Given the description of an element on the screen output the (x, y) to click on. 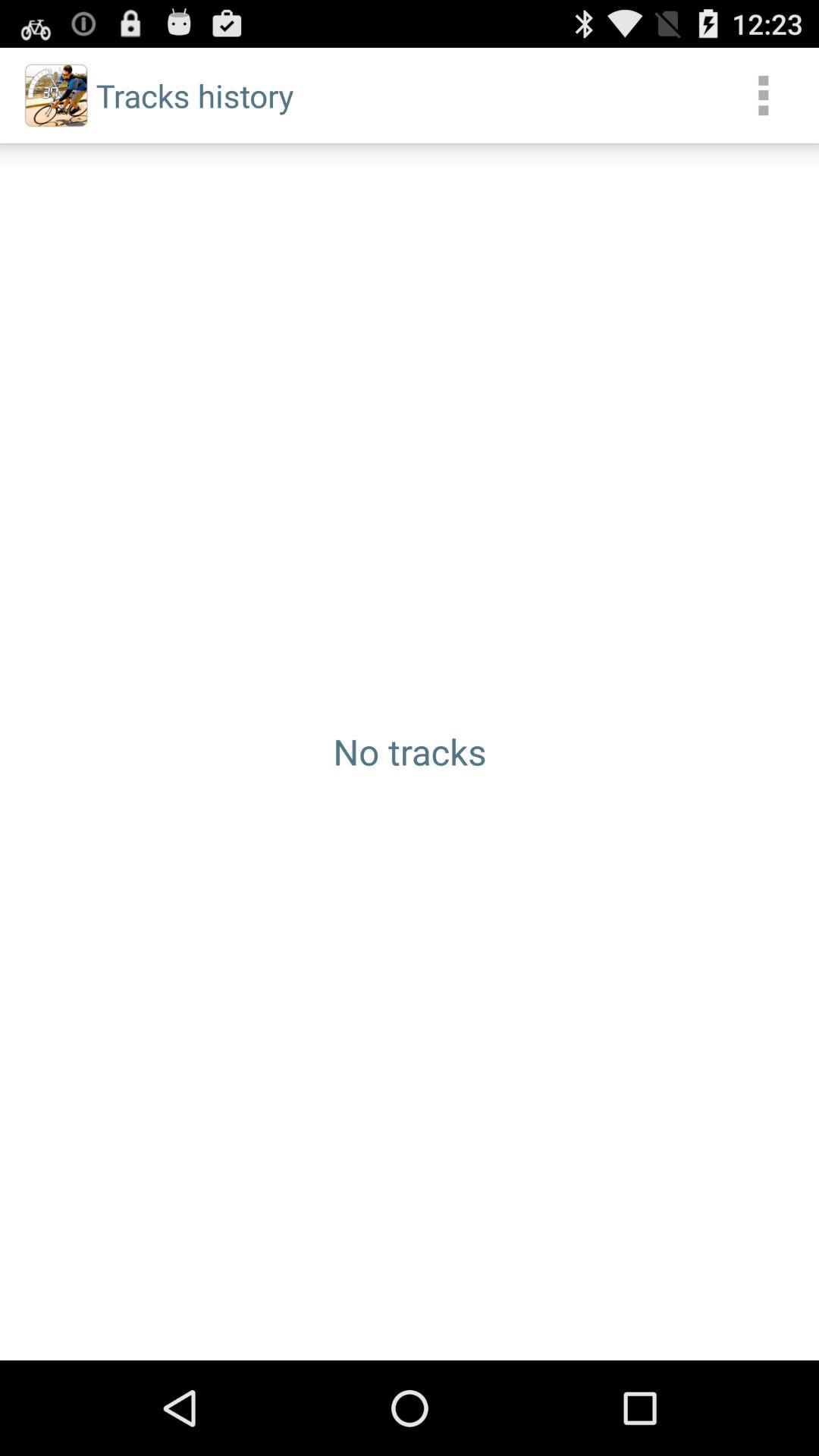
open app above no tracks item (763, 95)
